Given the description of an element on the screen output the (x, y) to click on. 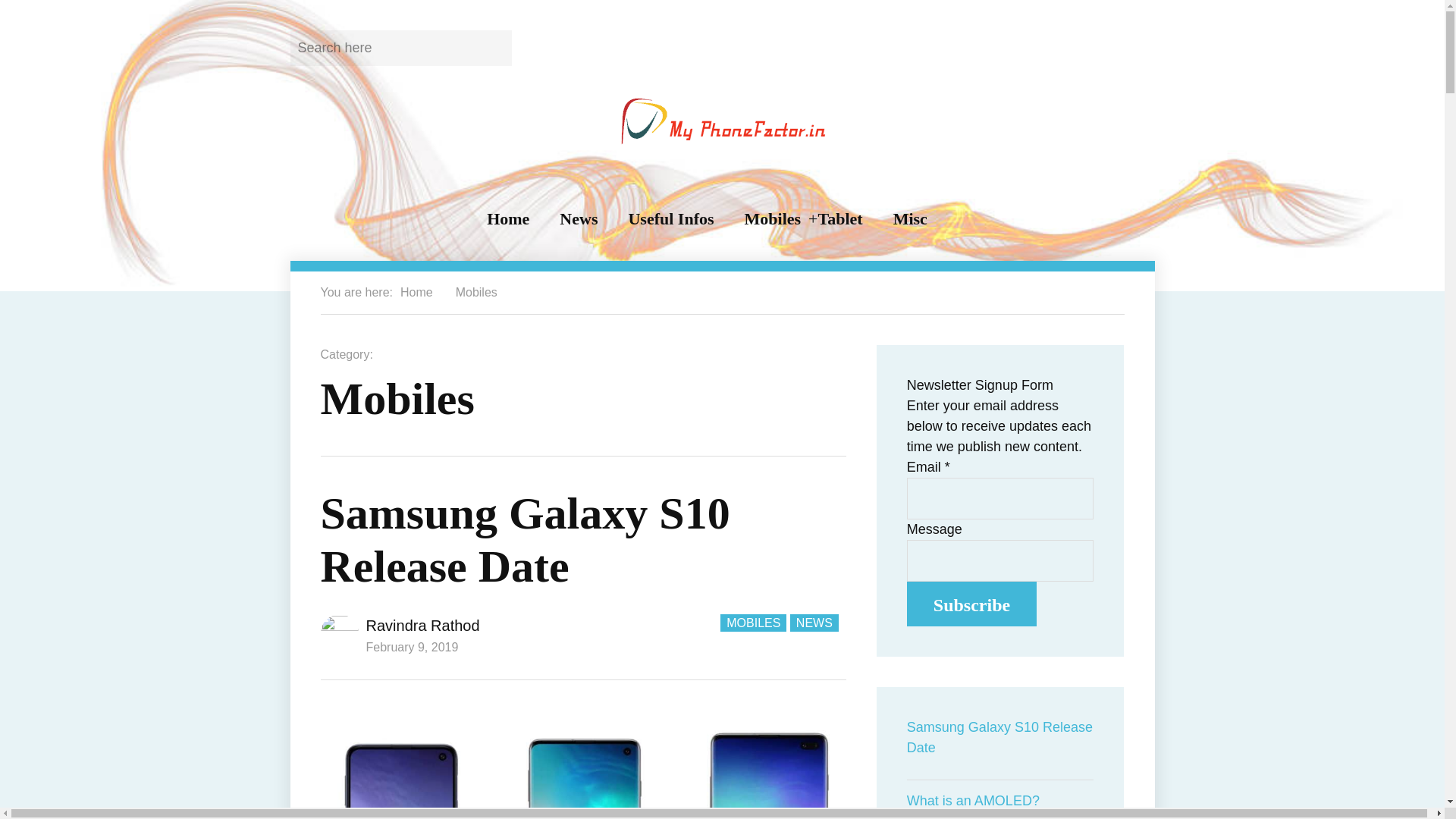
Mobiles (476, 291)
MOBILES (753, 622)
Home (416, 291)
Tablet (840, 219)
Search (489, 47)
Misc (910, 219)
News (577, 219)
Home (507, 219)
February 9, 2019 (411, 646)
Samsung Galaxy S10 Release Date (524, 539)
